Given the description of an element on the screen output the (x, y) to click on. 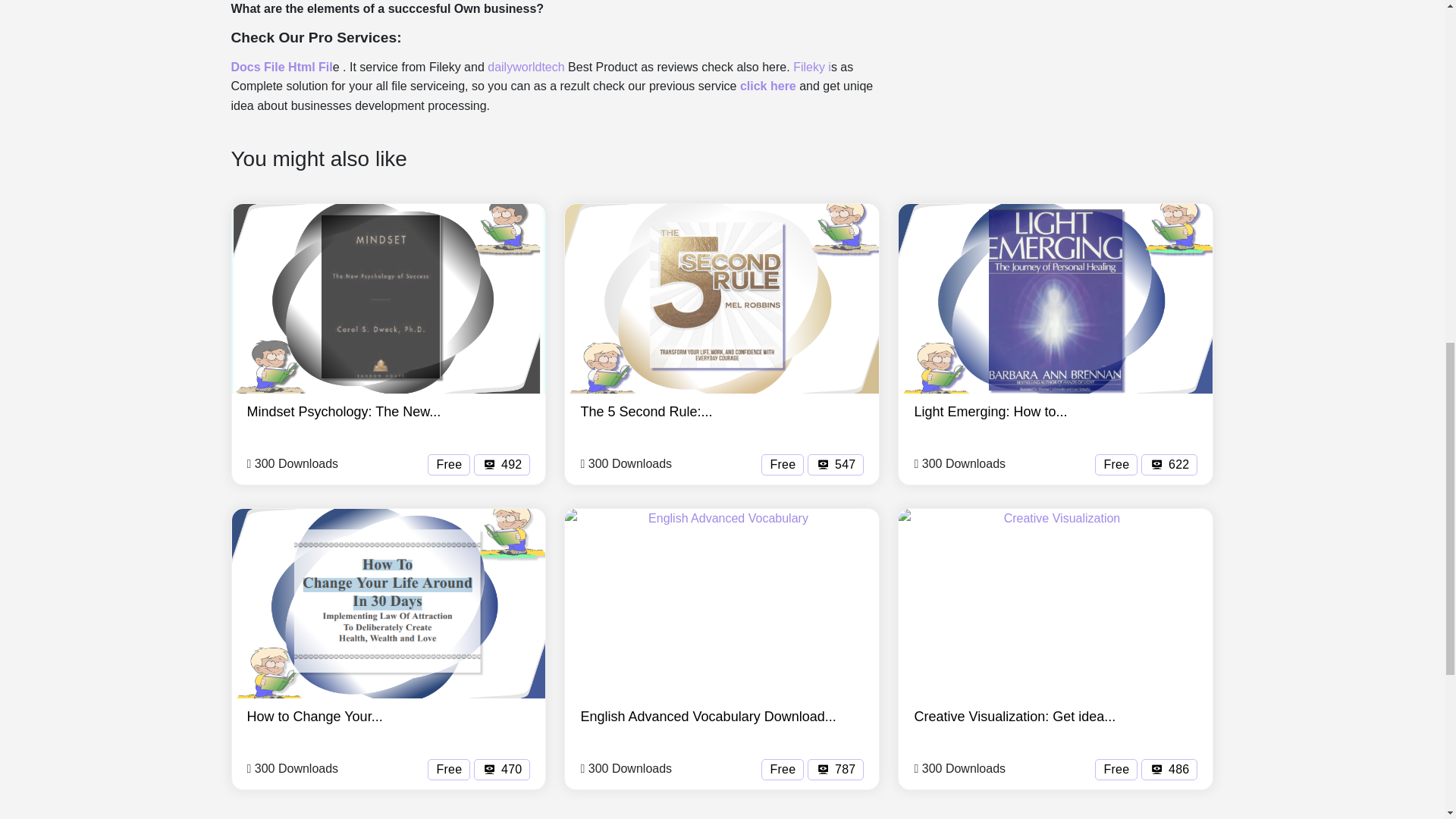
Feature image (1055, 298)
Feature image (388, 603)
The 5 Second Rule:... (645, 411)
Feature image (1055, 603)
Light Emerging: How to... (990, 411)
Fileky i (812, 66)
Docs File  (259, 66)
Feature image (721, 603)
click here (767, 85)
Feature image (388, 298)
Mindset Psychology: The New... (344, 411)
Html Fil (310, 66)
Feature image (721, 298)
dailyworldtech (525, 66)
